Given the description of an element on the screen output the (x, y) to click on. 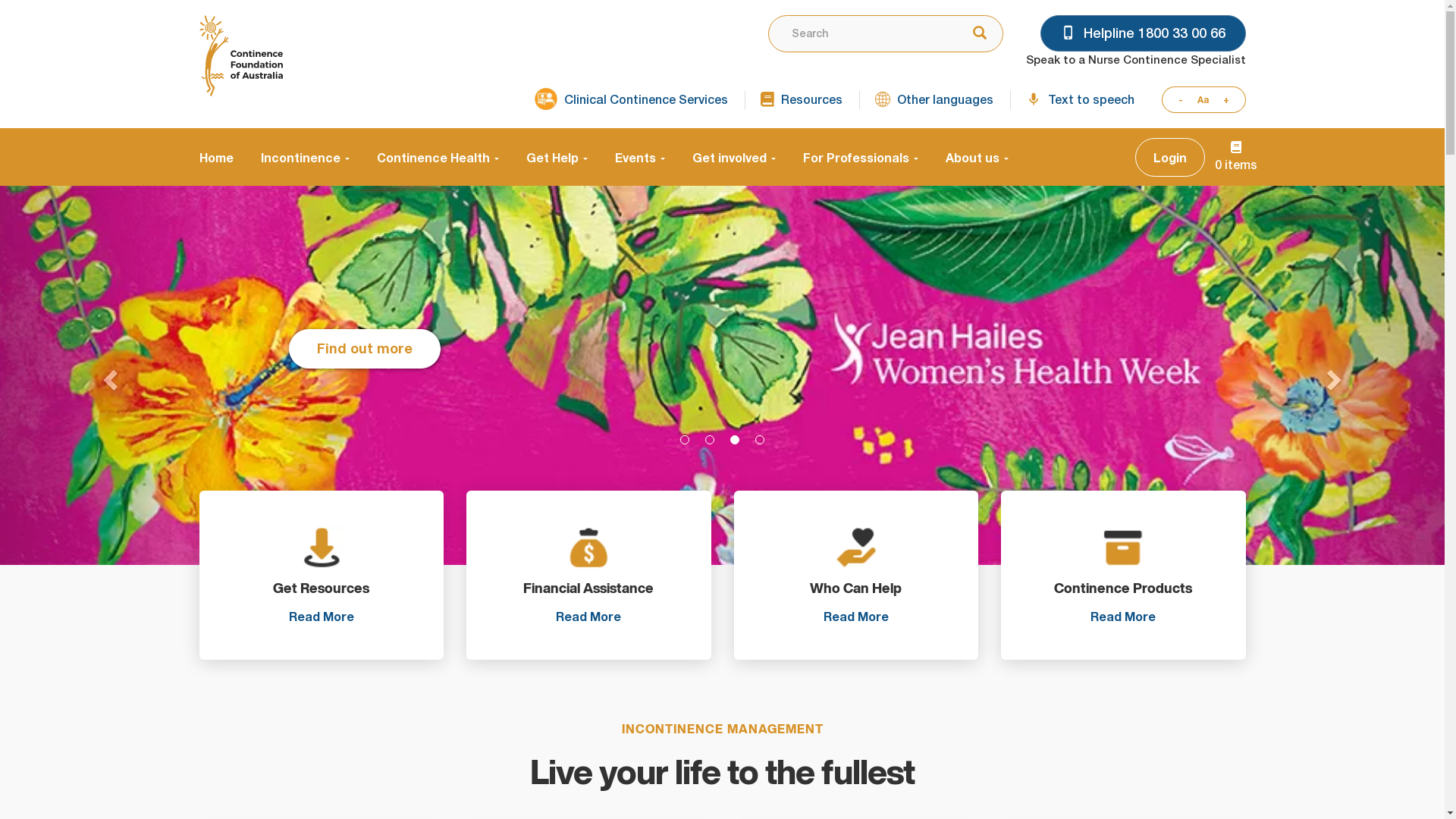
Find out more Element type: text (364, 377)
About us Element type: text (969, 156)
Get Resources Element type: hover (320, 574)
Get involved Element type: text (732, 156)
Next Element type: text (1335, 374)
Incontinence Element type: text (305, 156)
0 items Element type: text (1235, 156)
Clinical Continence Services Element type: text (630, 99)
Resources Element type: text (800, 100)
Home Element type: text (222, 156)
Search Element type: text (975, 33)
Read More Element type: text (321, 615)
Events Element type: text (638, 156)
Read More Element type: text (855, 615)
Read More Element type: text (1122, 615)
Continence Health Element type: text (436, 156)
- Element type: text (1175, 99)
Home Element type: hover (240, 55)
Aa Element type: text (1202, 99)
Continence Products Element type: hover (1123, 574)
Who Can Help Element type: hover (856, 574)
Login Element type: text (1169, 157)
Skip to main content Element type: text (0, 0)
Helpline 1800 33 00 66 Element type: text (1142, 33)
Enter the terms you wish to search for. Element type: hover (859, 33)
Text to speech Element type: text (1079, 100)
Other languages Element type: text (933, 100)
Get Help Element type: text (556, 156)
Read More Element type: text (588, 615)
+ Element type: text (1229, 99)
For Professionals Element type: text (859, 156)
Previous Element type: text (108, 374)
Financial Assistance Element type: hover (588, 574)
